Given the description of an element on the screen output the (x, y) to click on. 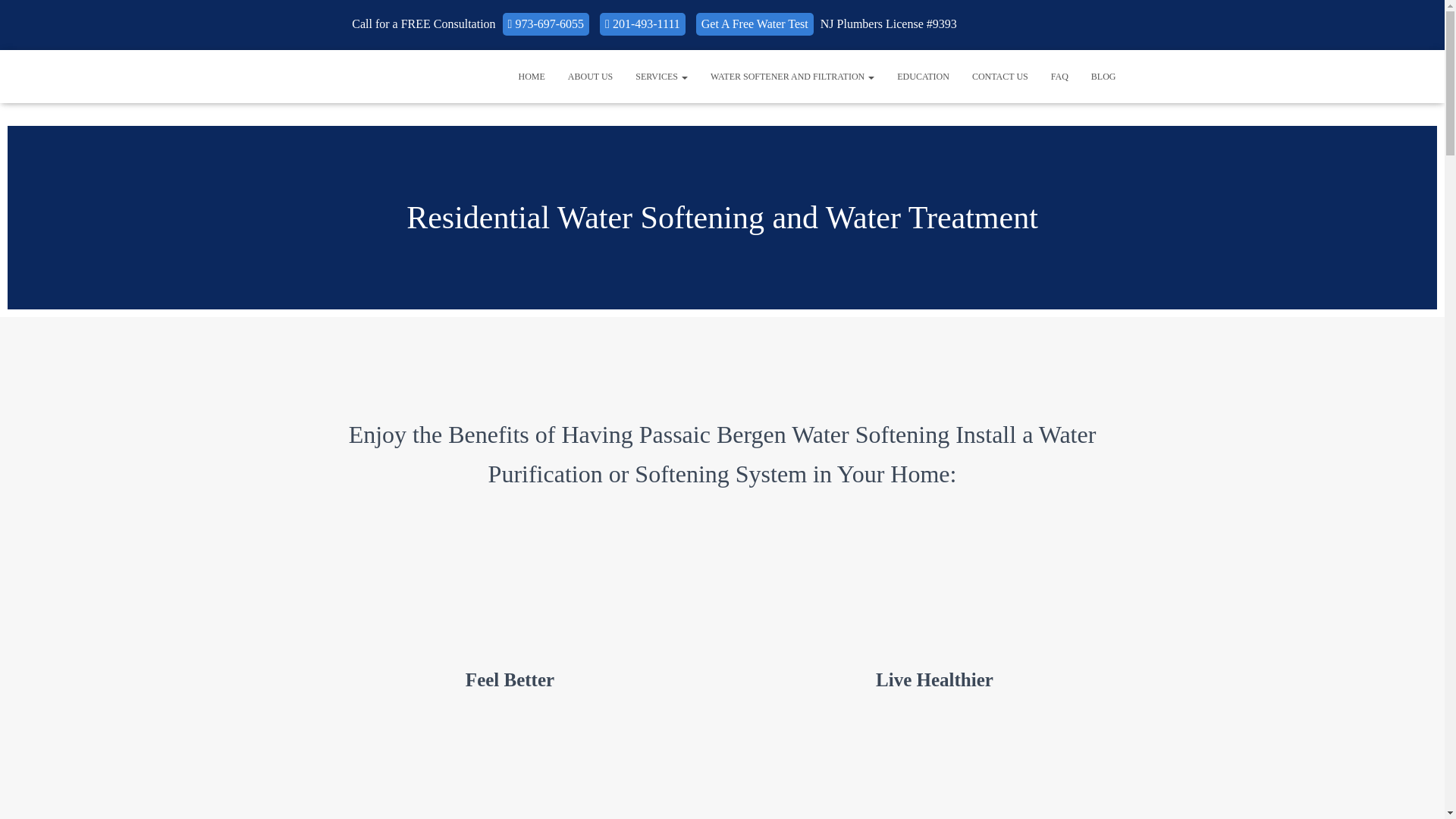
HOME (531, 76)
About Us (590, 76)
Water Softener and Filtration (791, 76)
201-493-1111 (642, 24)
FAQ (1059, 76)
Home (531, 76)
973-697-6055 (545, 24)
ABOUT US (590, 76)
CONTACT US (999, 76)
Get A Free Water Test (754, 24)
SERVICES (661, 76)
WATER SOFTENER AND FILTRATION (791, 76)
Services (661, 76)
EDUCATION (922, 76)
BLOG (1103, 76)
